Given the description of an element on the screen output the (x, y) to click on. 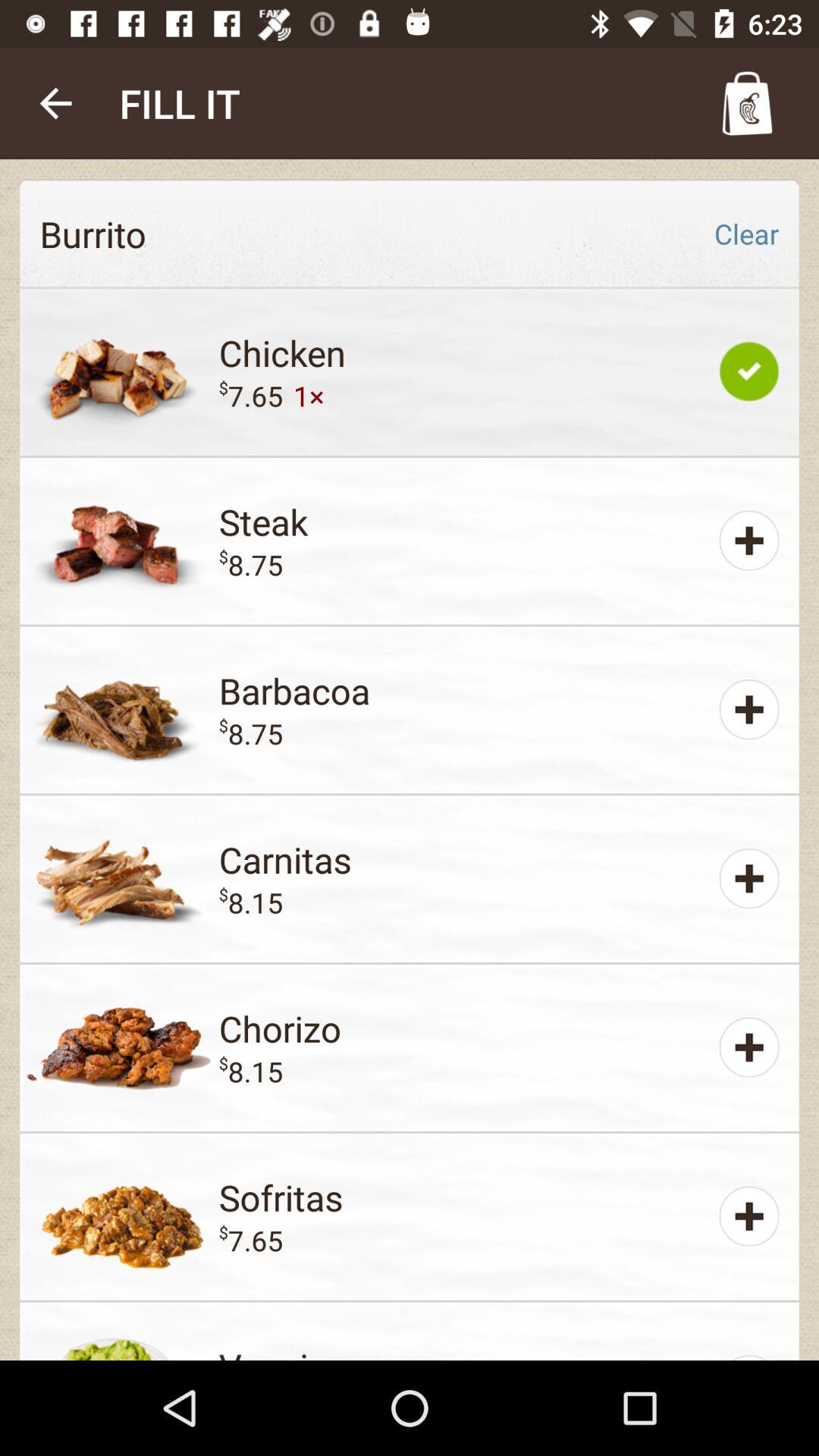
turn on item above the burrito (55, 103)
